Given the description of an element on the screen output the (x, y) to click on. 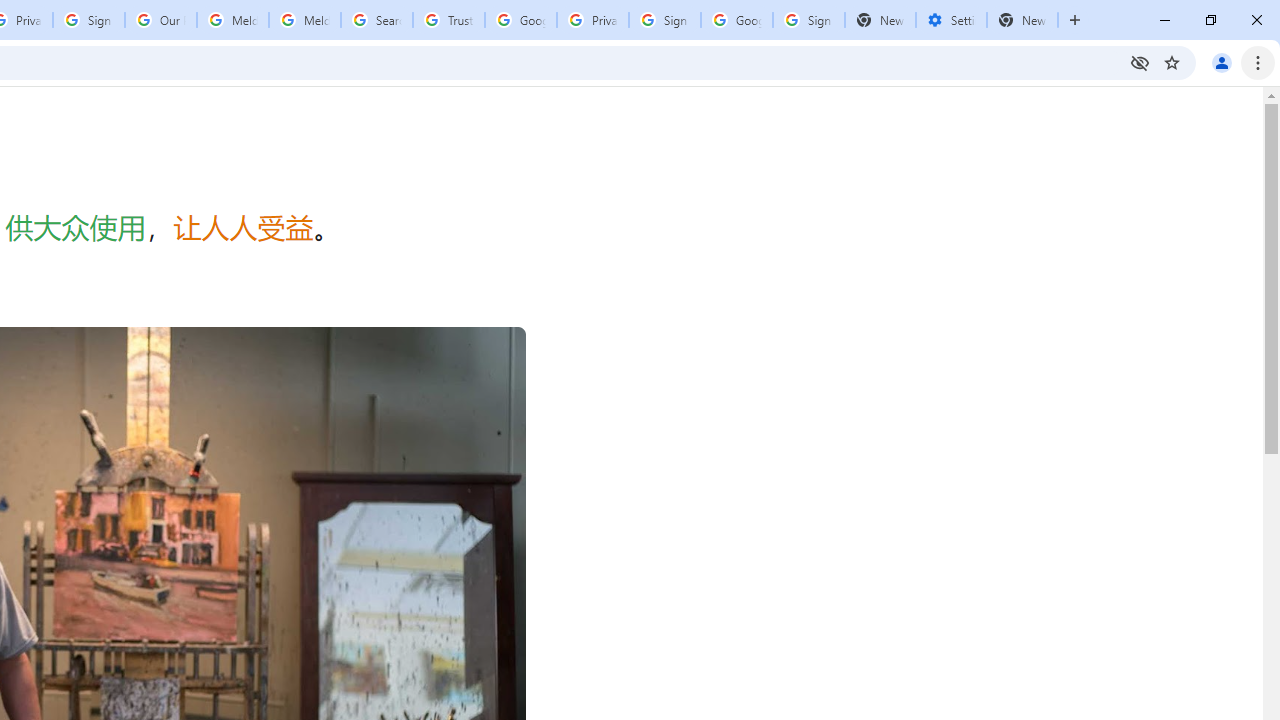
Sign in - Google Accounts (664, 20)
Google Ads - Sign in (520, 20)
New Tab (1022, 20)
Search our Doodle Library Collection - Google Doodles (376, 20)
Google Cybersecurity Innovations - Google Safety Center (737, 20)
Sign in - Google Accounts (88, 20)
Trusted Information and Content - Google Safety Center (449, 20)
